Given the description of an element on the screen output the (x, y) to click on. 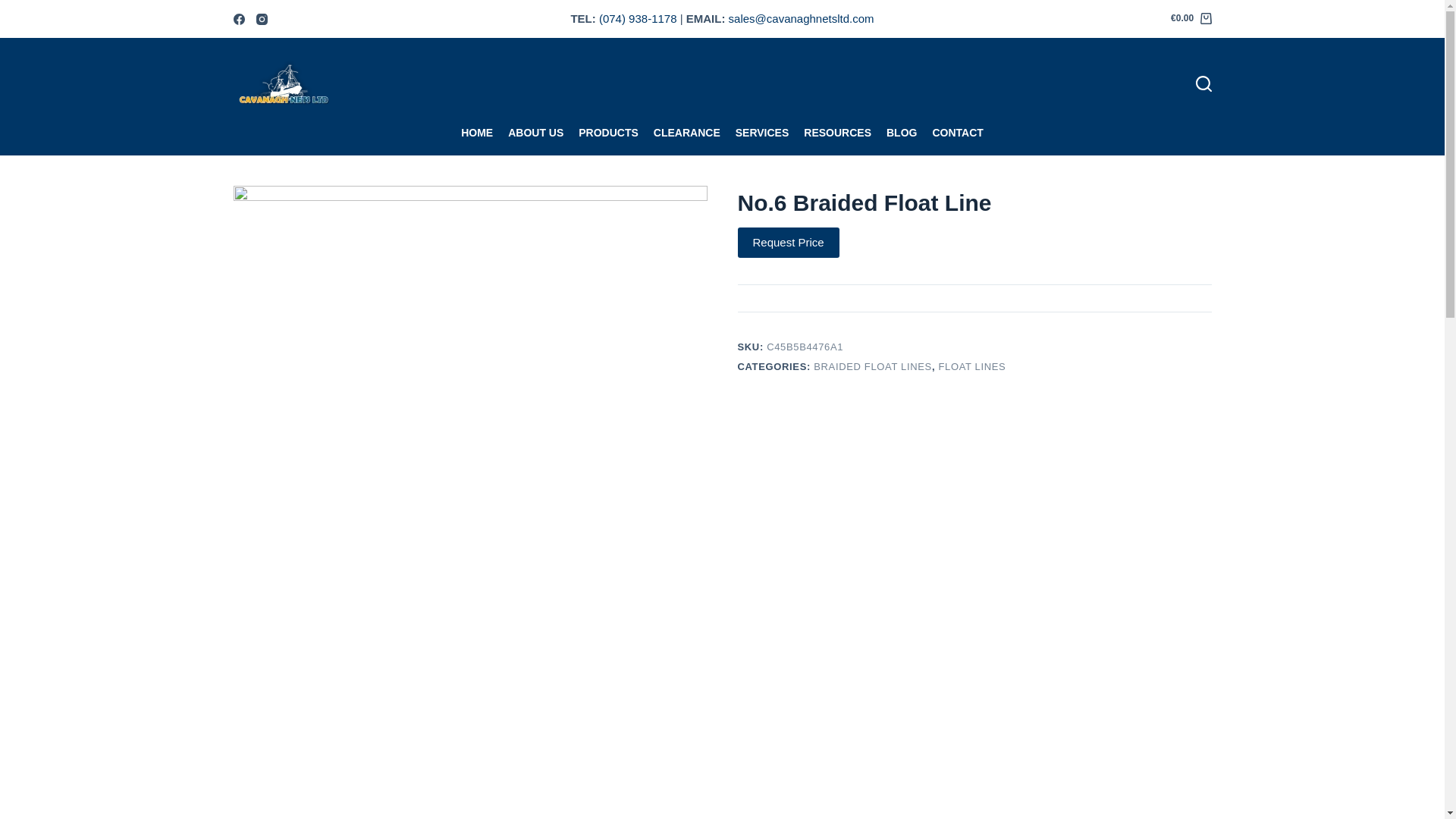
Skip to content (15, 7)
